Given the description of an element on the screen output the (x, y) to click on. 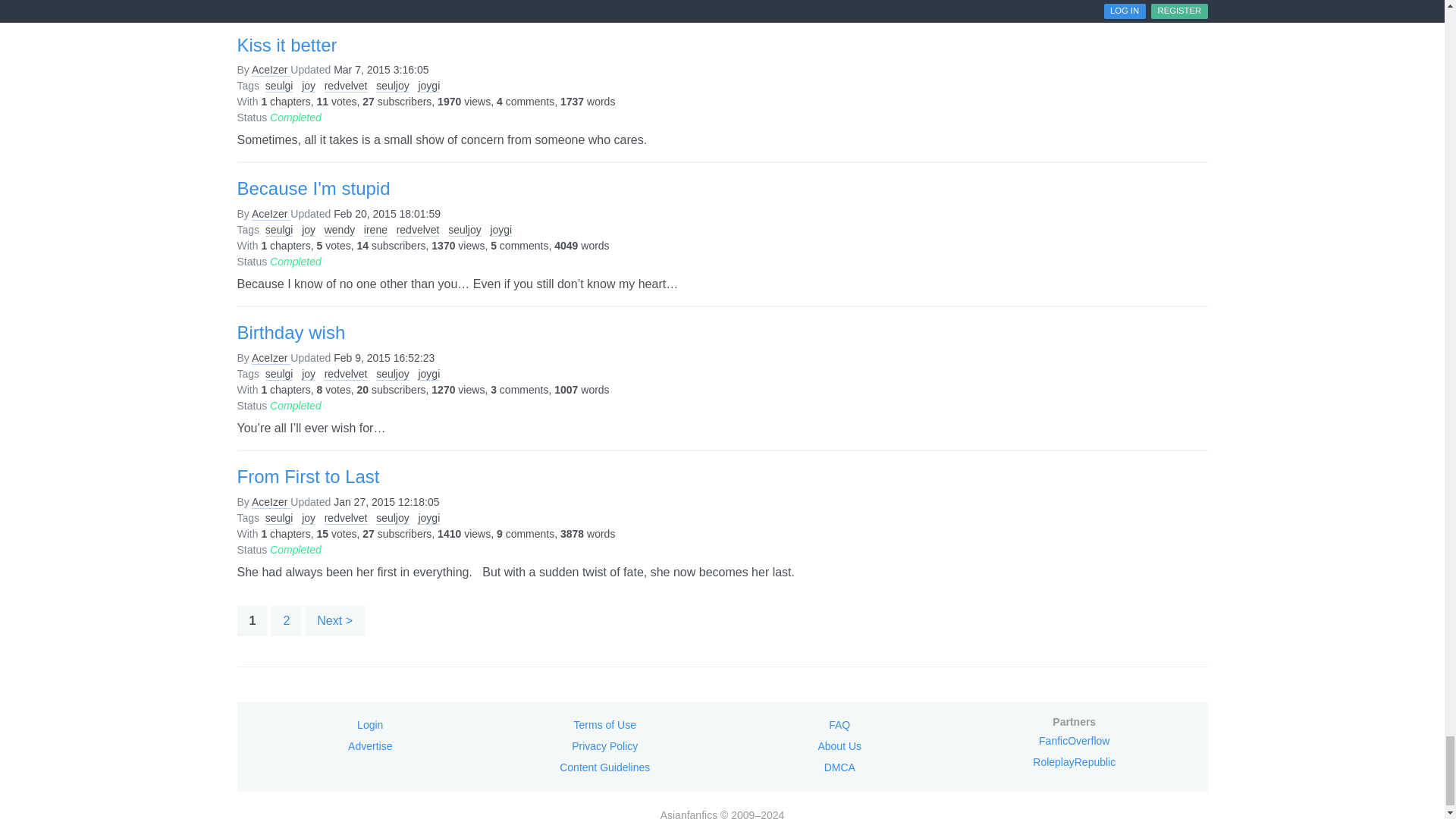
FAQ (839, 724)
